Given the description of an element on the screen output the (x, y) to click on. 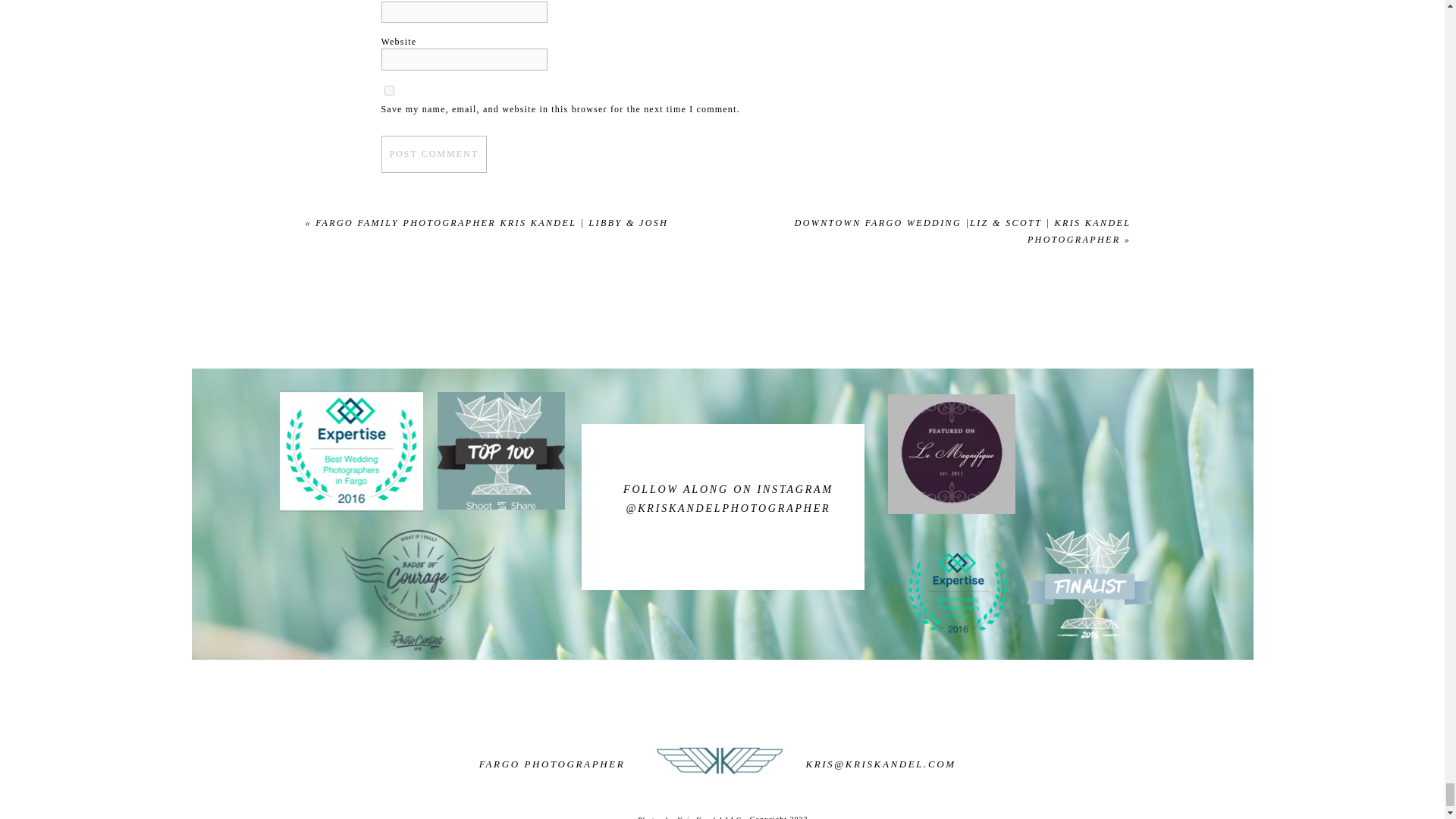
Copyright 2023 (812, 815)
Photos by Kris Kandel LLC (655, 815)
Post Comment (433, 153)
Post Comment (433, 153)
yes (388, 90)
